Given the description of an element on the screen output the (x, y) to click on. 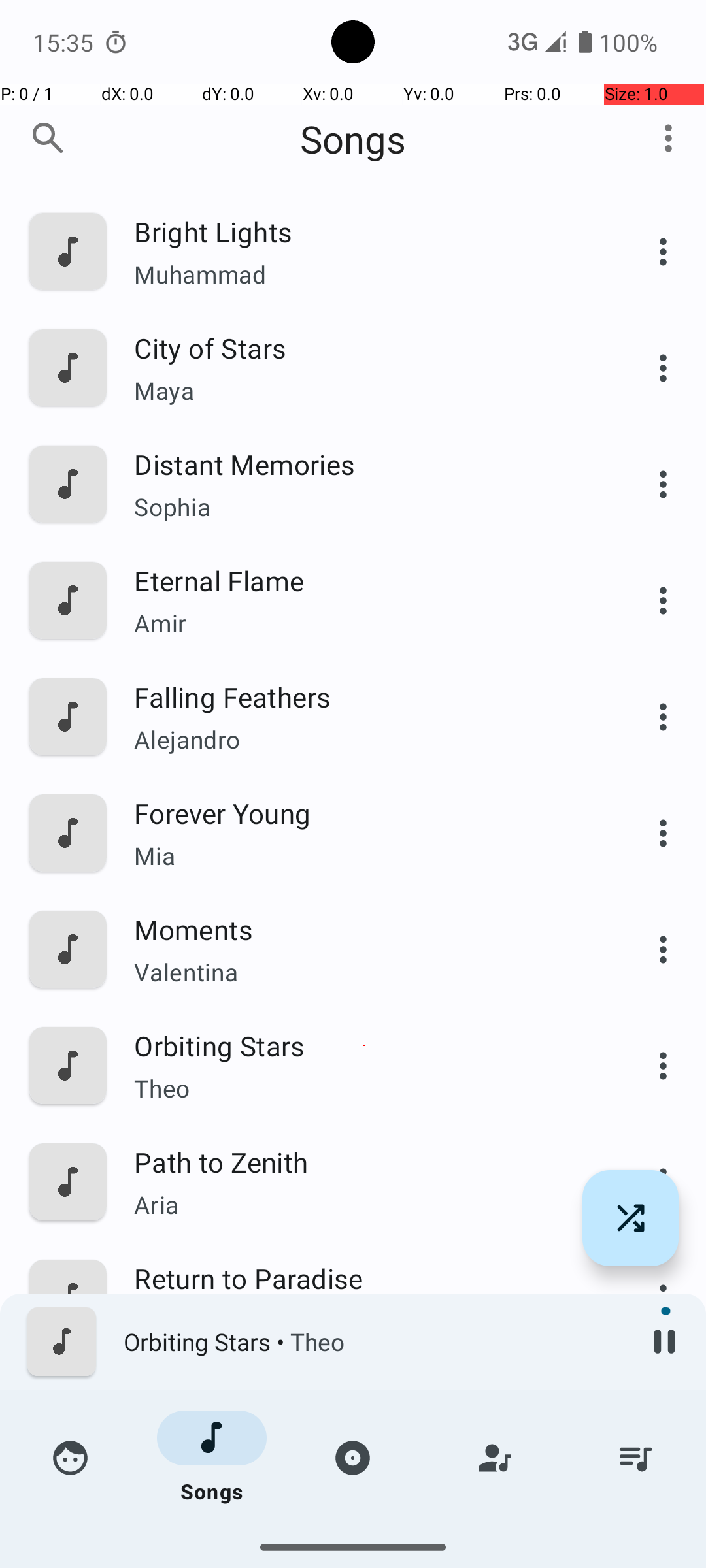
Orbiting Stars • Theo Element type: android.widget.TextView (372, 1341)
Bright Lights Element type: android.widget.TextView (363, 231)
Muhammad Element type: android.widget.TextView (363, 273)
City of Stars Element type: android.widget.TextView (363, 347)
Maya Element type: android.widget.TextView (363, 390)
Distant Memories Element type: android.widget.TextView (363, 463)
Sophia Element type: android.widget.TextView (363, 506)
Eternal Flame Element type: android.widget.TextView (363, 580)
Amir Element type: android.widget.TextView (363, 622)
Falling Feathers Element type: android.widget.TextView (363, 696)
Alejandro Element type: android.widget.TextView (363, 738)
Forever Young Element type: android.widget.TextView (363, 812)
Mia Element type: android.widget.TextView (363, 855)
Moments Element type: android.widget.TextView (363, 928)
Valentina Element type: android.widget.TextView (363, 971)
Orbiting Stars Element type: android.widget.TextView (363, 1045)
Theo Element type: android.widget.TextView (363, 1087)
Path to Zenith Element type: android.widget.TextView (363, 1161)
Aria Element type: android.widget.TextView (363, 1204)
Return to Paradise Element type: android.widget.TextView (363, 1277)
Fatima Element type: android.widget.TextView (363, 1320)
Shadows of Time Element type: android.widget.TextView (363, 1394)
Thomas Element type: android.widget.TextView (363, 1436)
Twilight Calling Element type: android.widget.TextView (363, 1510)
Sarah Element type: android.widget.TextView (363, 1538)
